Given the description of an element on the screen output the (x, y) to click on. 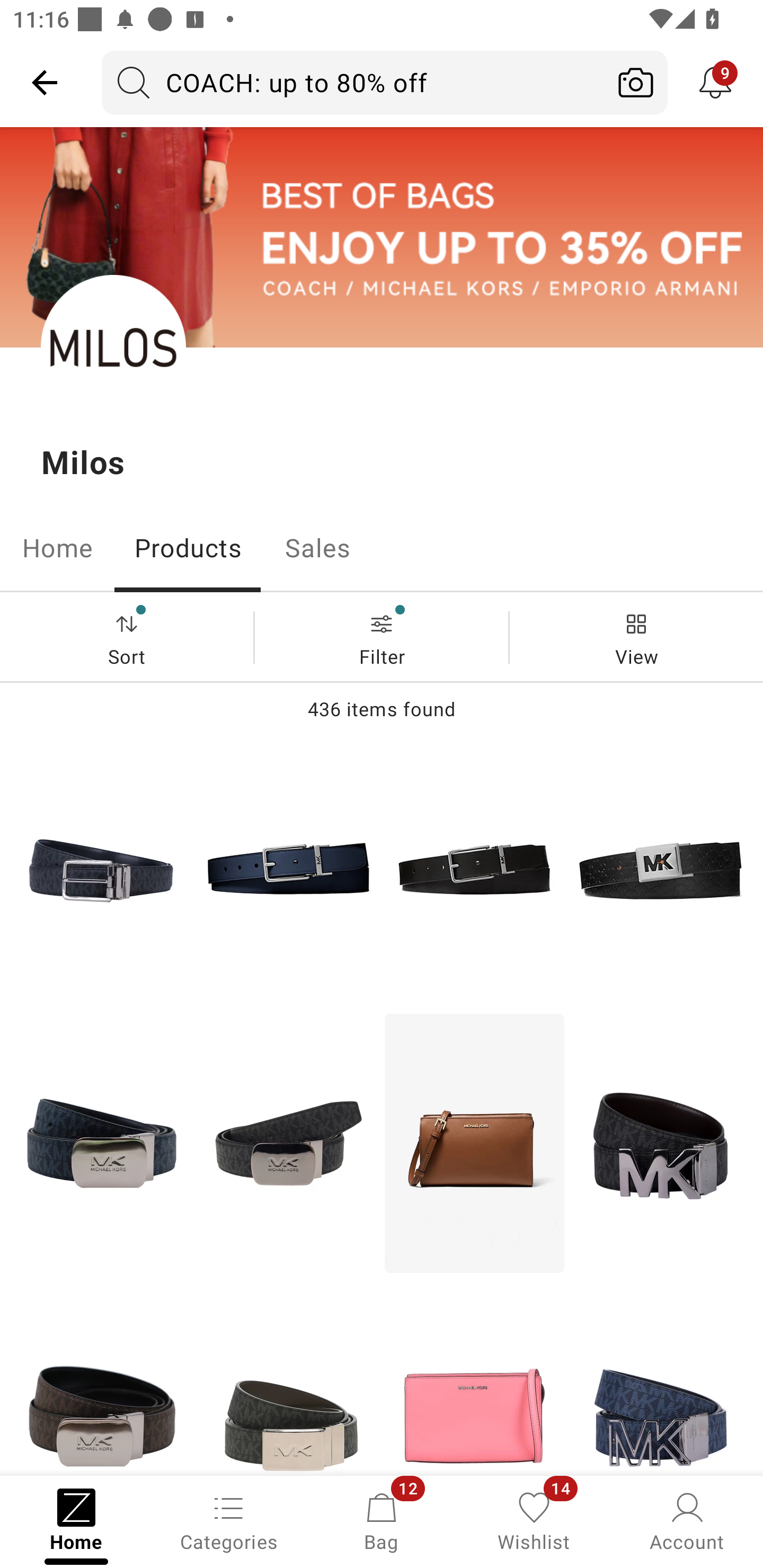
Navigate up (44, 82)
COACH: up to 80% off (352, 82)
Home (57, 547)
Sales (317, 547)
Categories (228, 1519)
Bag, 12 new notifications Bag (381, 1519)
Wishlist, 14 new notifications Wishlist (533, 1519)
Account (686, 1519)
